Given the description of an element on the screen output the (x, y) to click on. 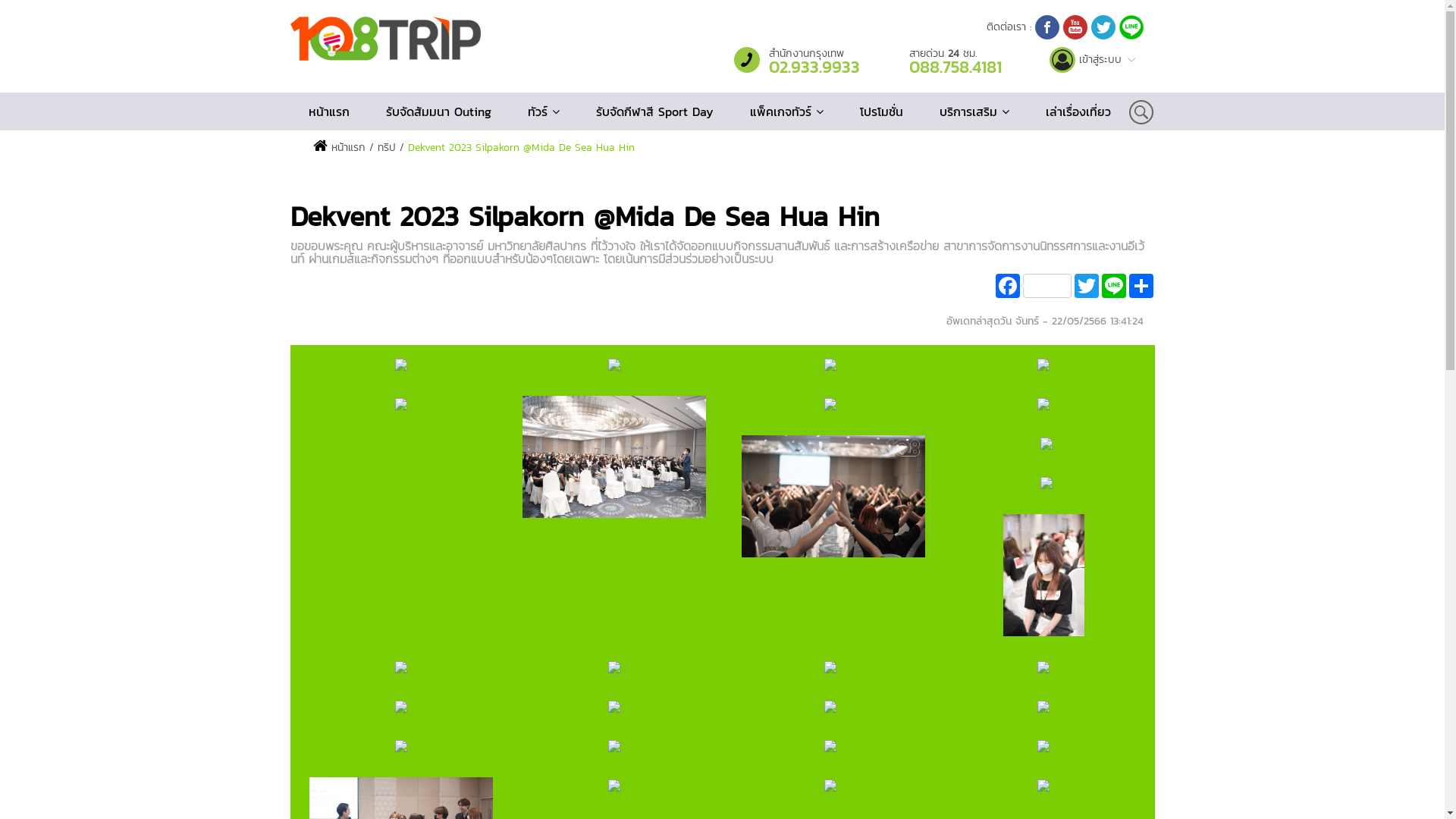
Line Element type: text (1112, 285)
Share Element type: text (1140, 285)
Twitter Element type: text (1085, 285)
Facebook Element type: text (1032, 285)
